Given the description of an element on the screen output the (x, y) to click on. 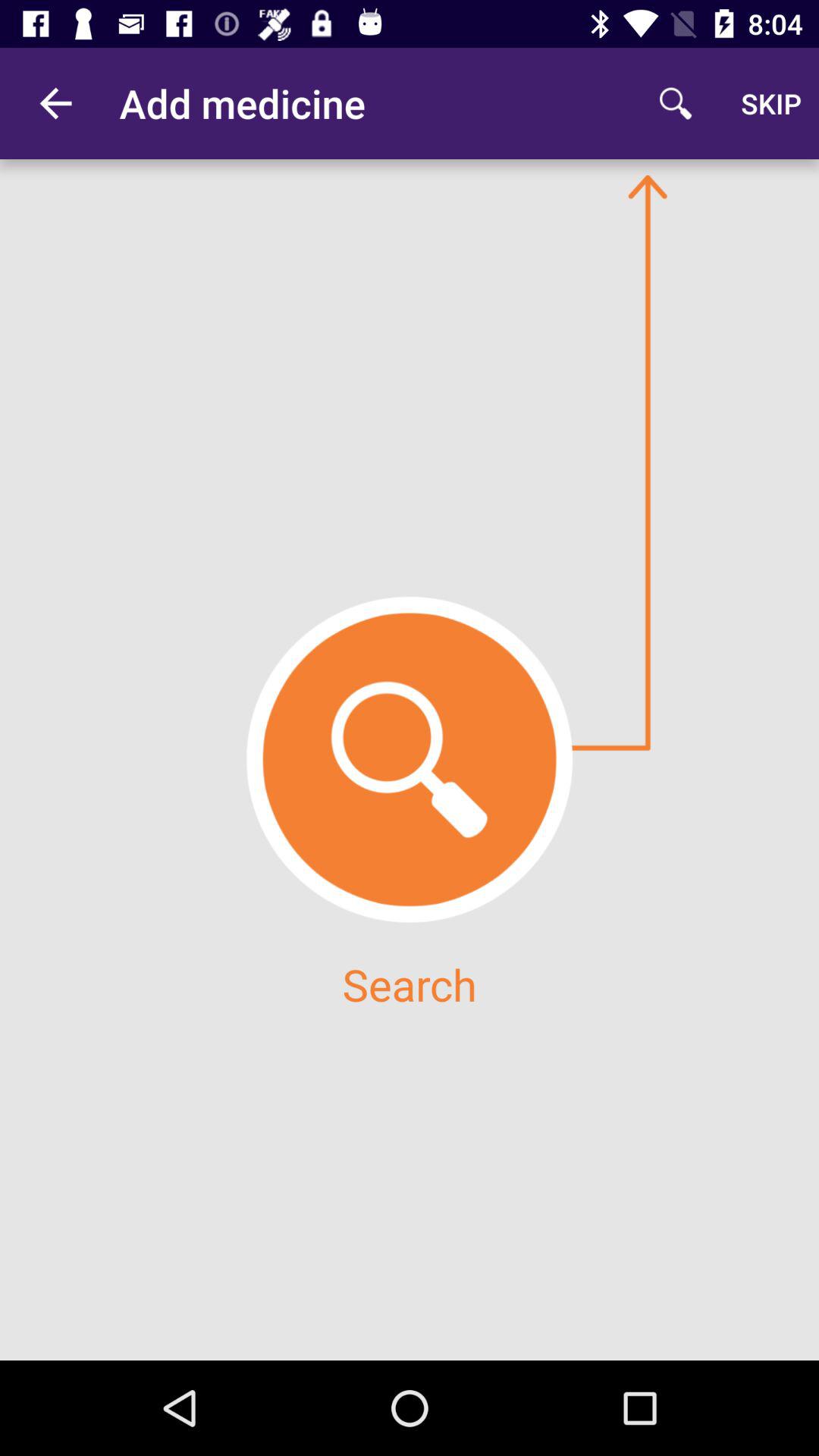
turn off app next to add medicine app (675, 103)
